Given the description of an element on the screen output the (x, y) to click on. 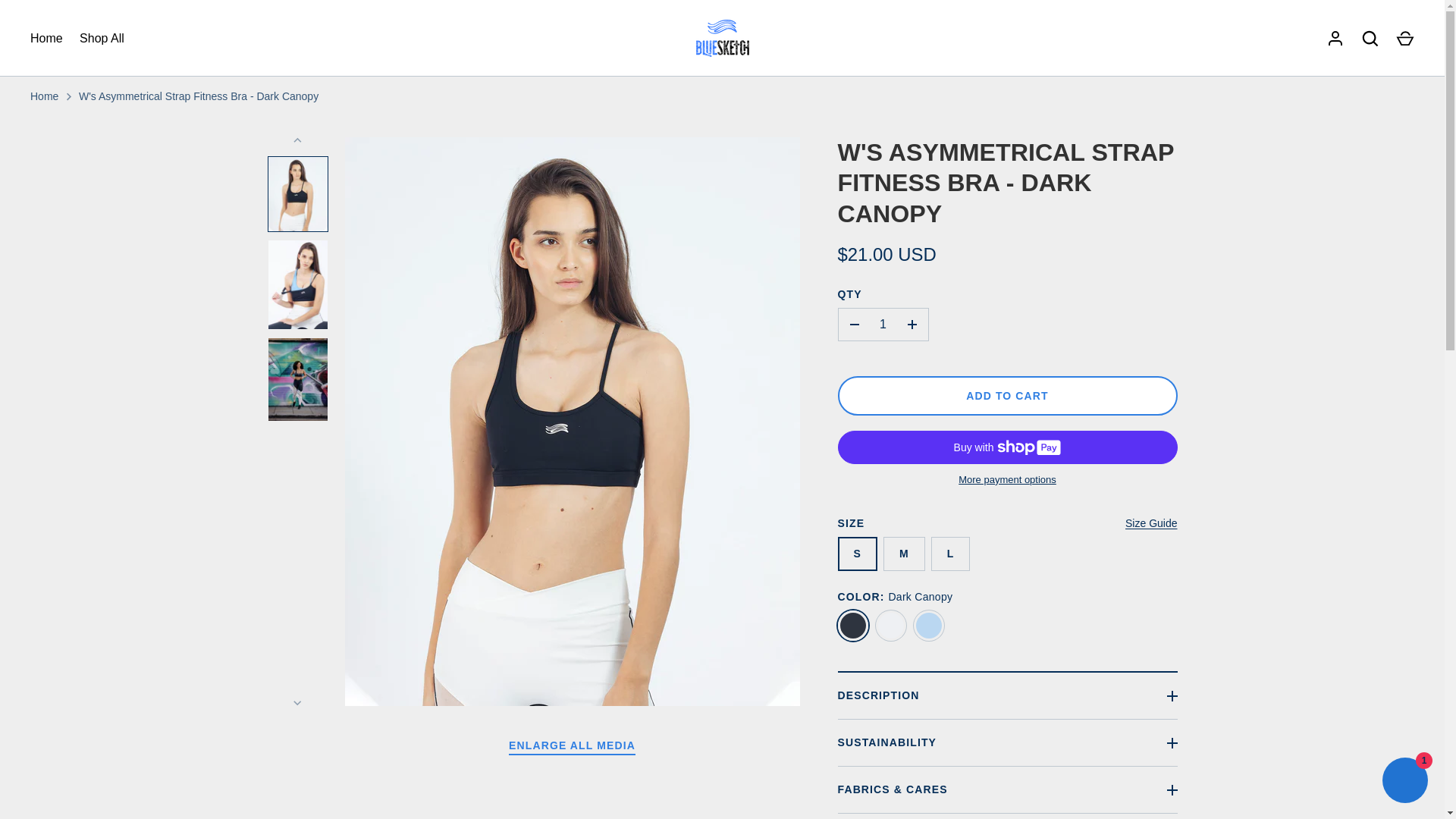
Home (46, 37)
Shop All (101, 37)
Shopify online store chat (1404, 781)
1 (883, 324)
